Given the description of an element on the screen output the (x, y) to click on. 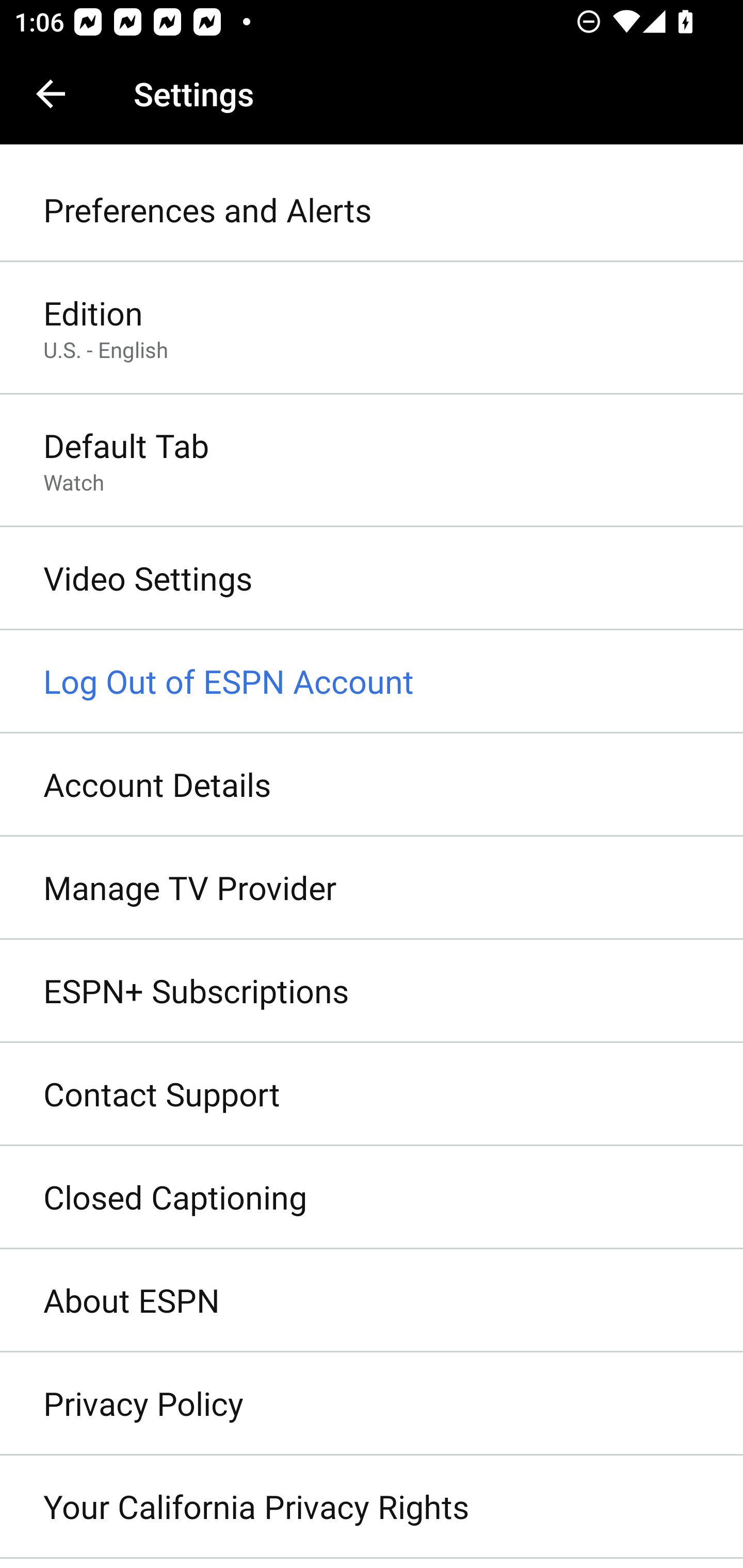
Navigate up (50, 93)
Preferences and Alerts (371, 209)
Edition U.S. - English (371, 328)
Default Tab Watch (371, 461)
Video Settings (371, 578)
Log Out of ESPN Account (371, 681)
Account Details (371, 785)
Manage TV Provider (371, 888)
ESPN+ Subscriptions (371, 990)
Contact Support (371, 1094)
Closed Captioning (371, 1197)
About ESPN (371, 1301)
Privacy Policy (371, 1403)
Your California Privacy Rights (371, 1506)
